Given the description of an element on the screen output the (x, y) to click on. 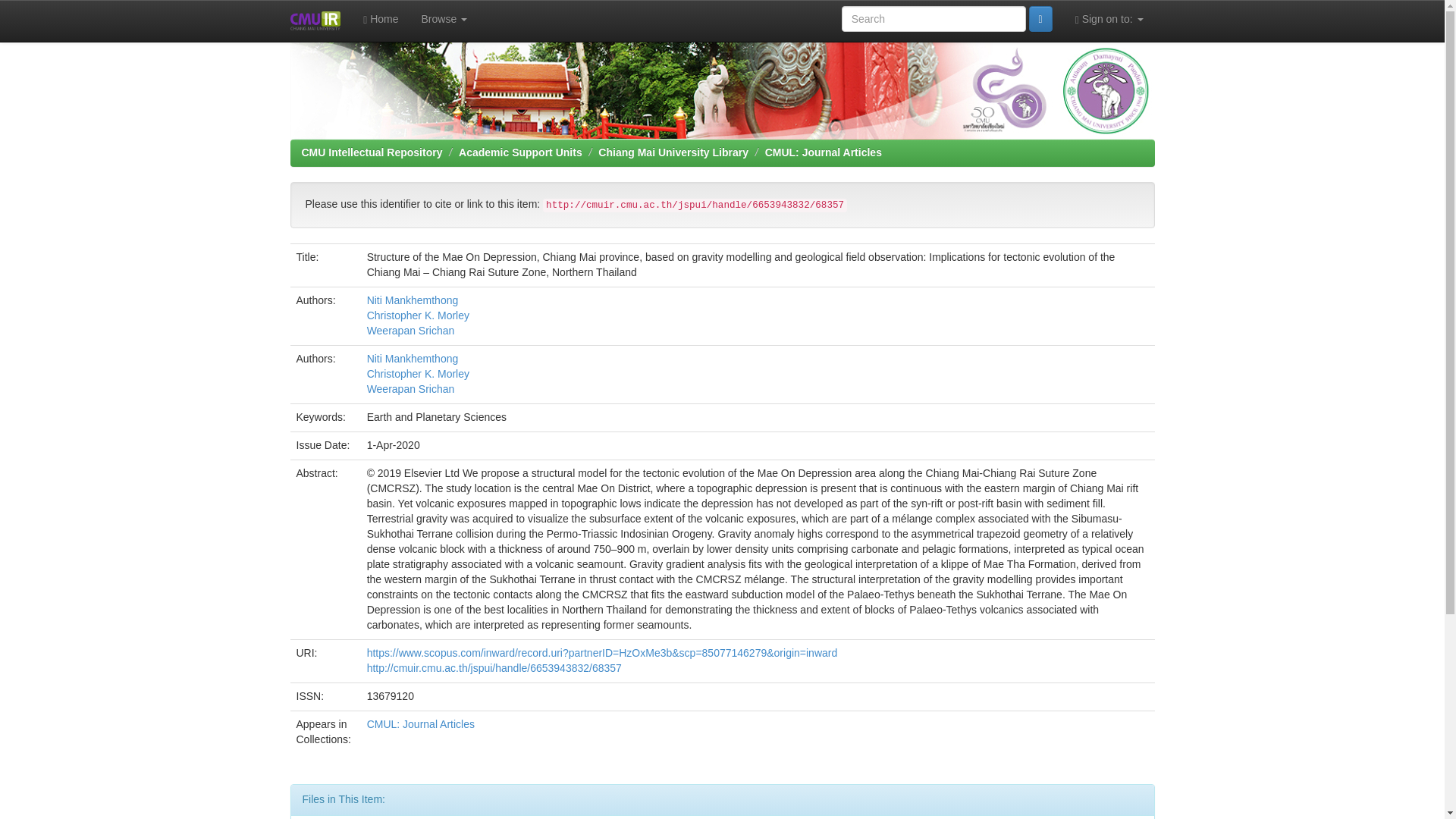
Academic Support Units (520, 152)
Christopher K. Morley (417, 315)
Chiang Mai University Library (673, 152)
Home (380, 18)
CMU Intellectual Repository (314, 20)
Browse (444, 18)
CMU Intellectual Repository (721, 90)
CMU Intellectual Repository (371, 152)
Christopher K. Morley (417, 373)
CMUL: Journal Articles (823, 152)
